Given the description of an element on the screen output the (x, y) to click on. 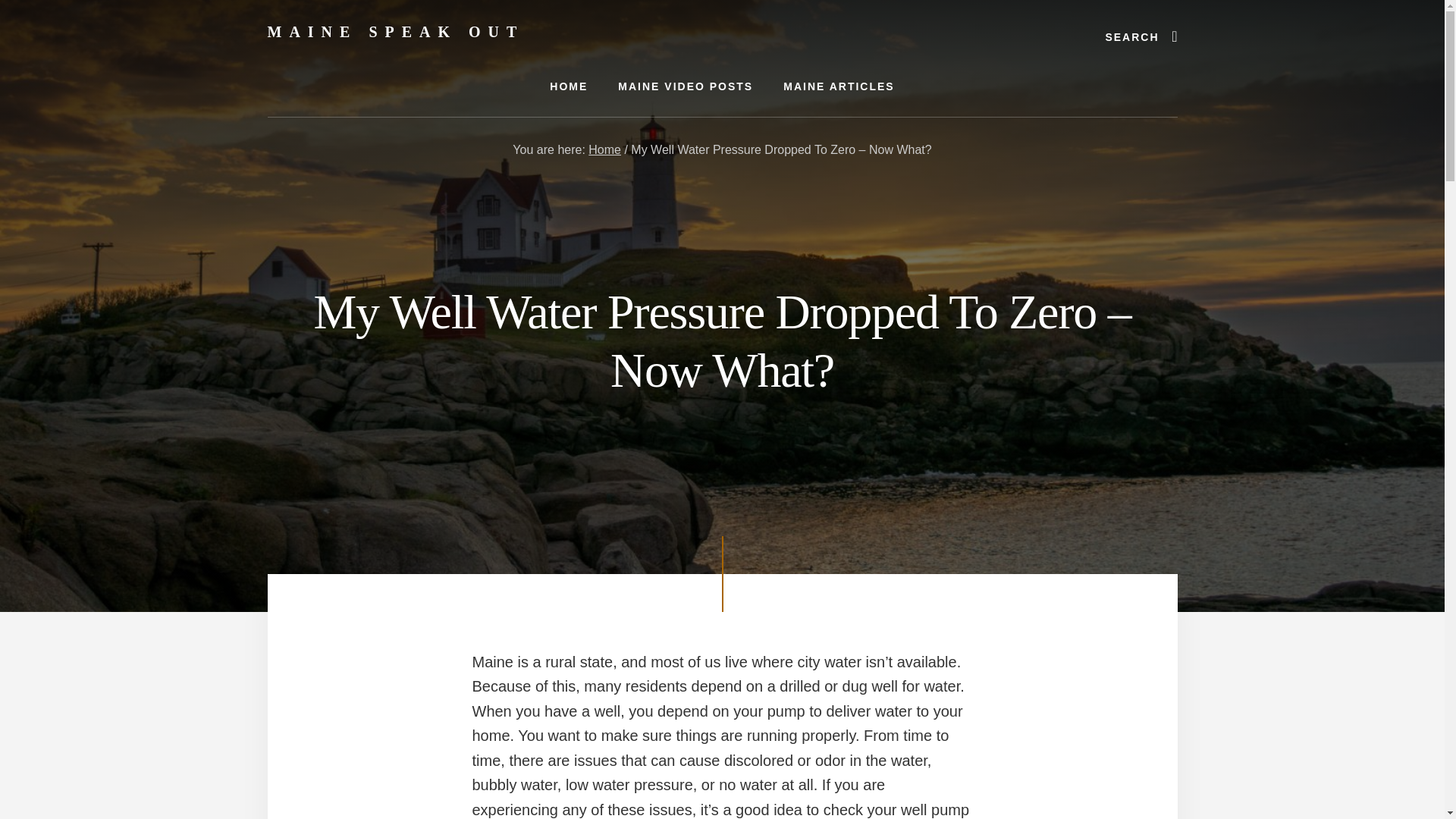
MAINE VIDEO POSTS (685, 86)
Home (604, 149)
HOME (568, 86)
MAINE ARTICLES (838, 86)
MAINE SPEAK OUT (395, 31)
